Given the description of an element on the screen output the (x, y) to click on. 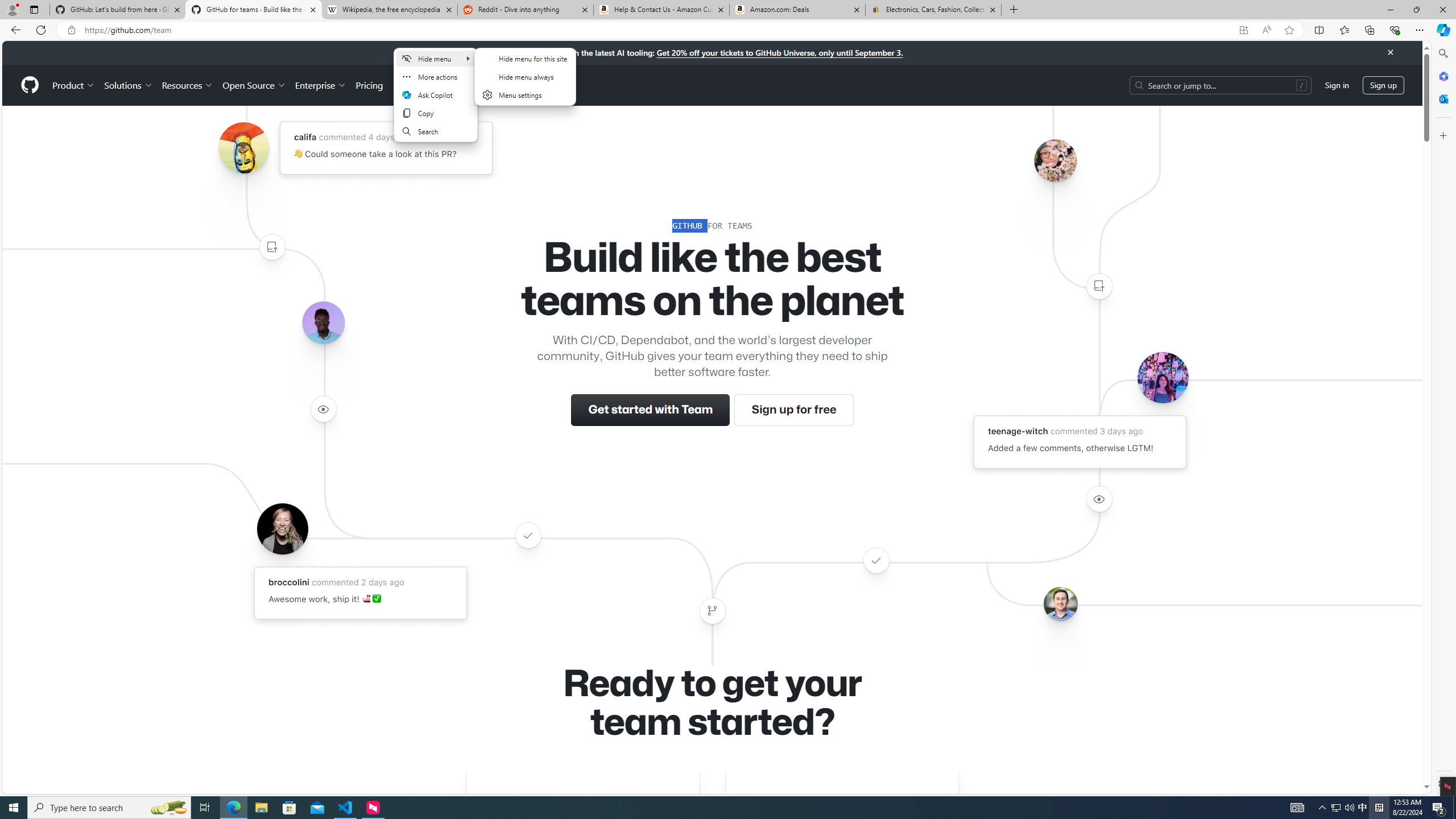
Product (74, 84)
Hide menu (524, 76)
Avatar of the user ohjoycelau (1054, 159)
App available. Install GitHub (1243, 29)
Hide menu (525, 83)
Enterprise (319, 84)
Avatar of the user lerebear (323, 322)
